Given the description of an element on the screen output the (x, y) to click on. 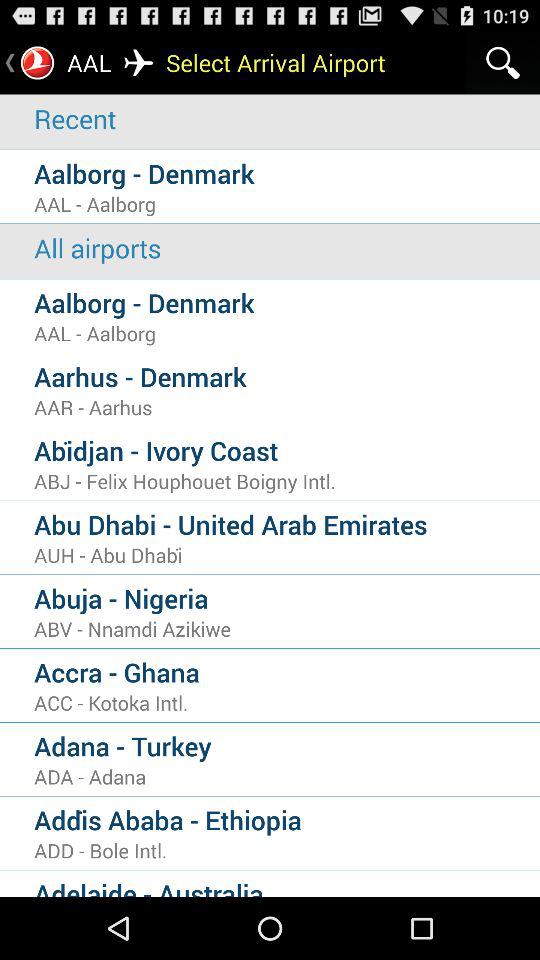
open the icon above aalborg - denmark icon (287, 247)
